Given the description of an element on the screen output the (x, y) to click on. 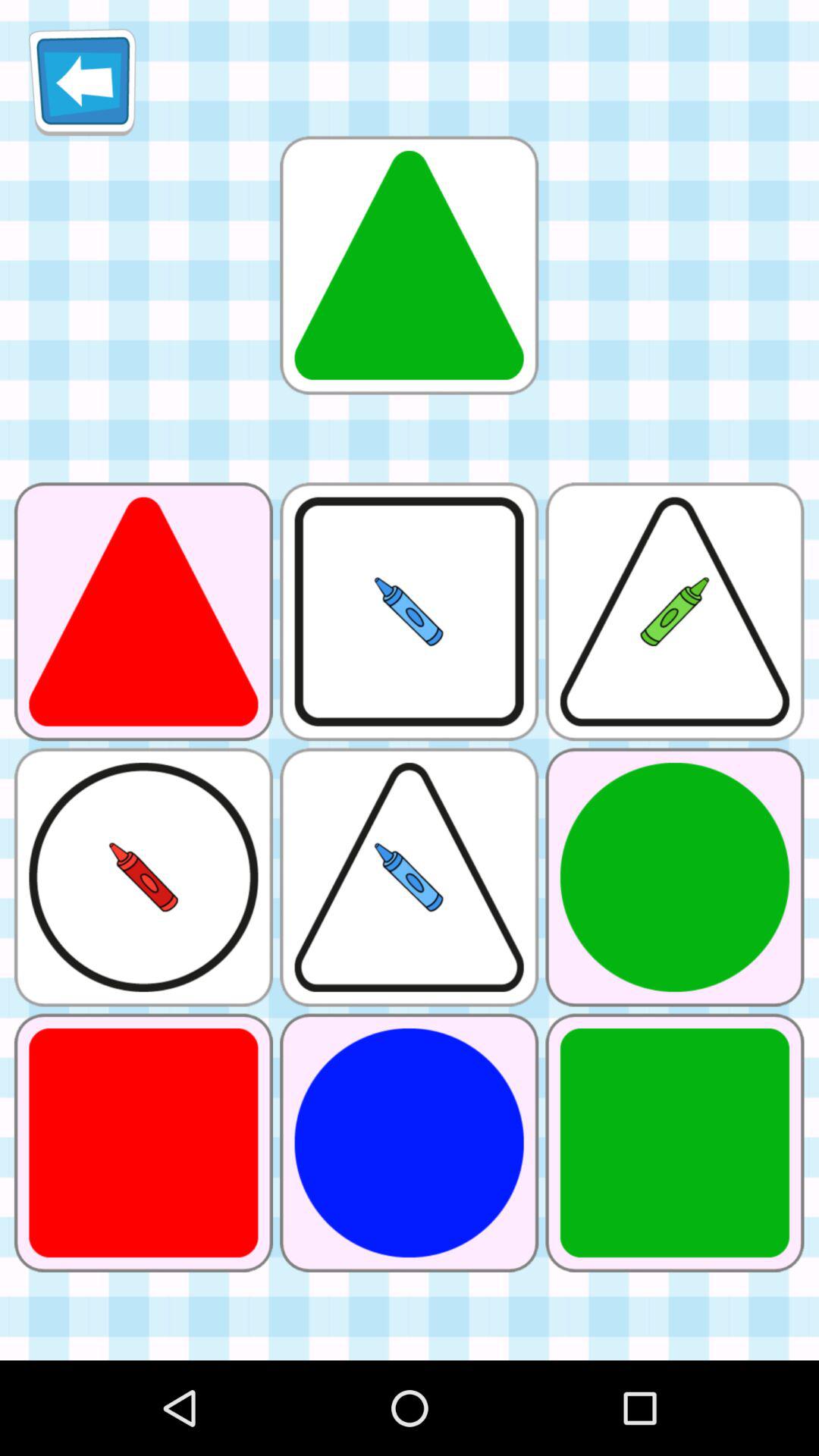
go to previous (82, 82)
